Given the description of an element on the screen output the (x, y) to click on. 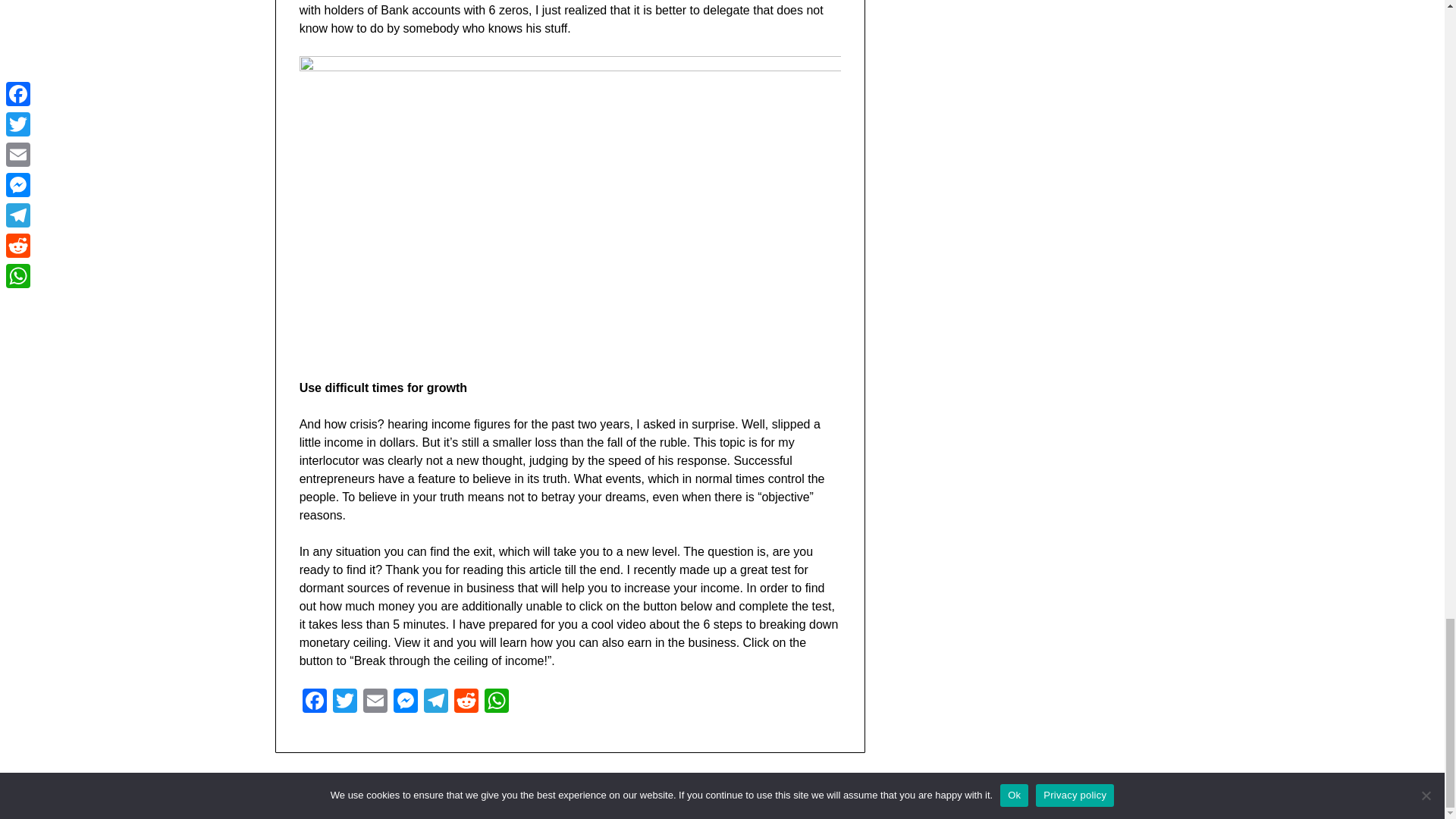
Twitter (344, 702)
Minimalist Blog (793, 797)
Twitter (344, 702)
Email (374, 702)
Reddit (466, 702)
Telegram (435, 702)
Messenger (405, 702)
WhatsApp (496, 702)
Facebook (314, 702)
WhatsApp (496, 702)
